Given the description of an element on the screen output the (x, y) to click on. 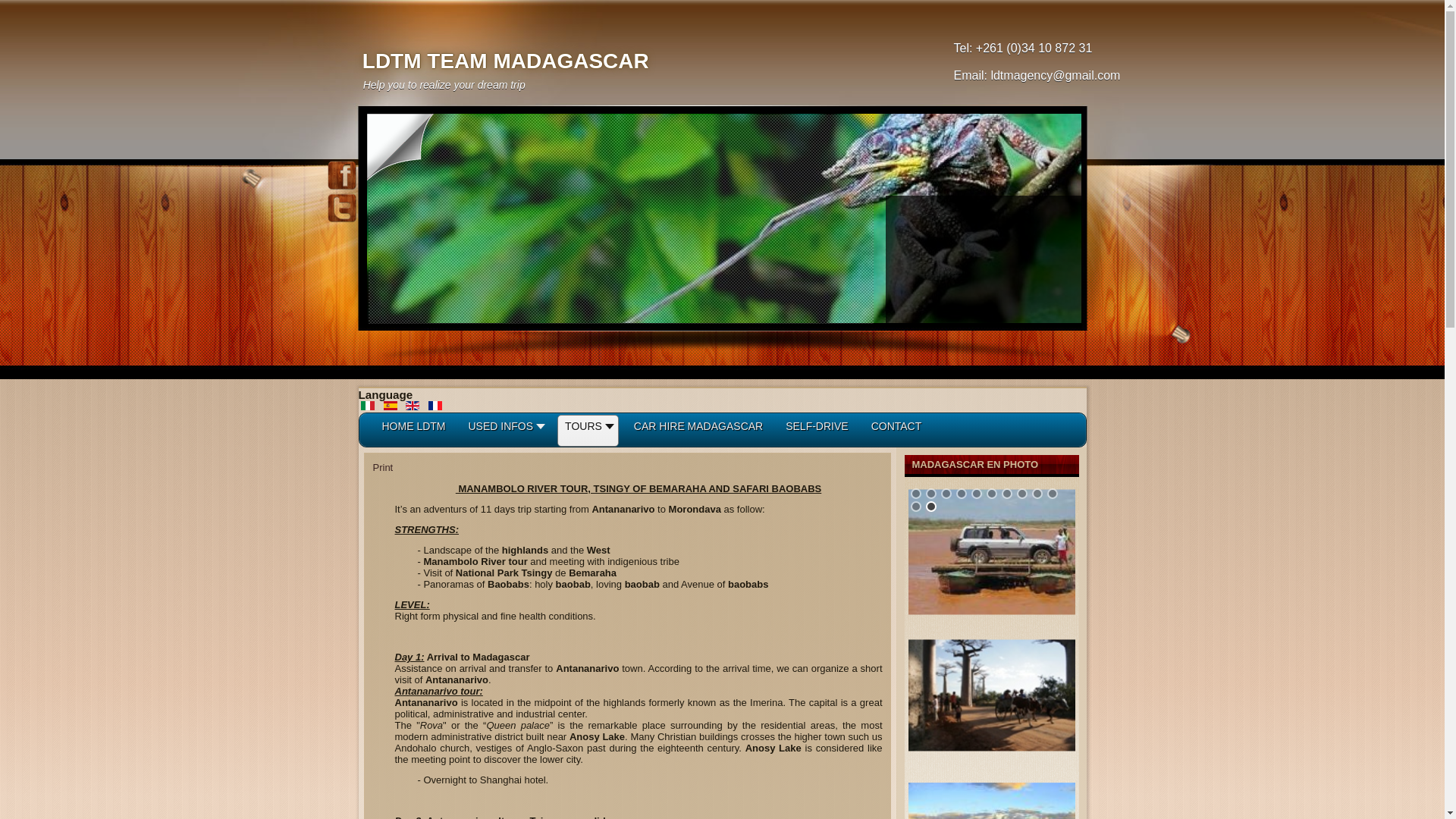
SpanishES (390, 405)
CONTACT (895, 431)
SELF-DRIVE (816, 431)
LDTM TEAM MADAGASCAR (505, 60)
TOURS (587, 431)
CAR HIRE MADAGASCAR (697, 431)
ItalianIT (367, 405)
Print (382, 467)
USED INFOS (505, 431)
HOME LDTM (413, 431)
